Given the description of an element on the screen output the (x, y) to click on. 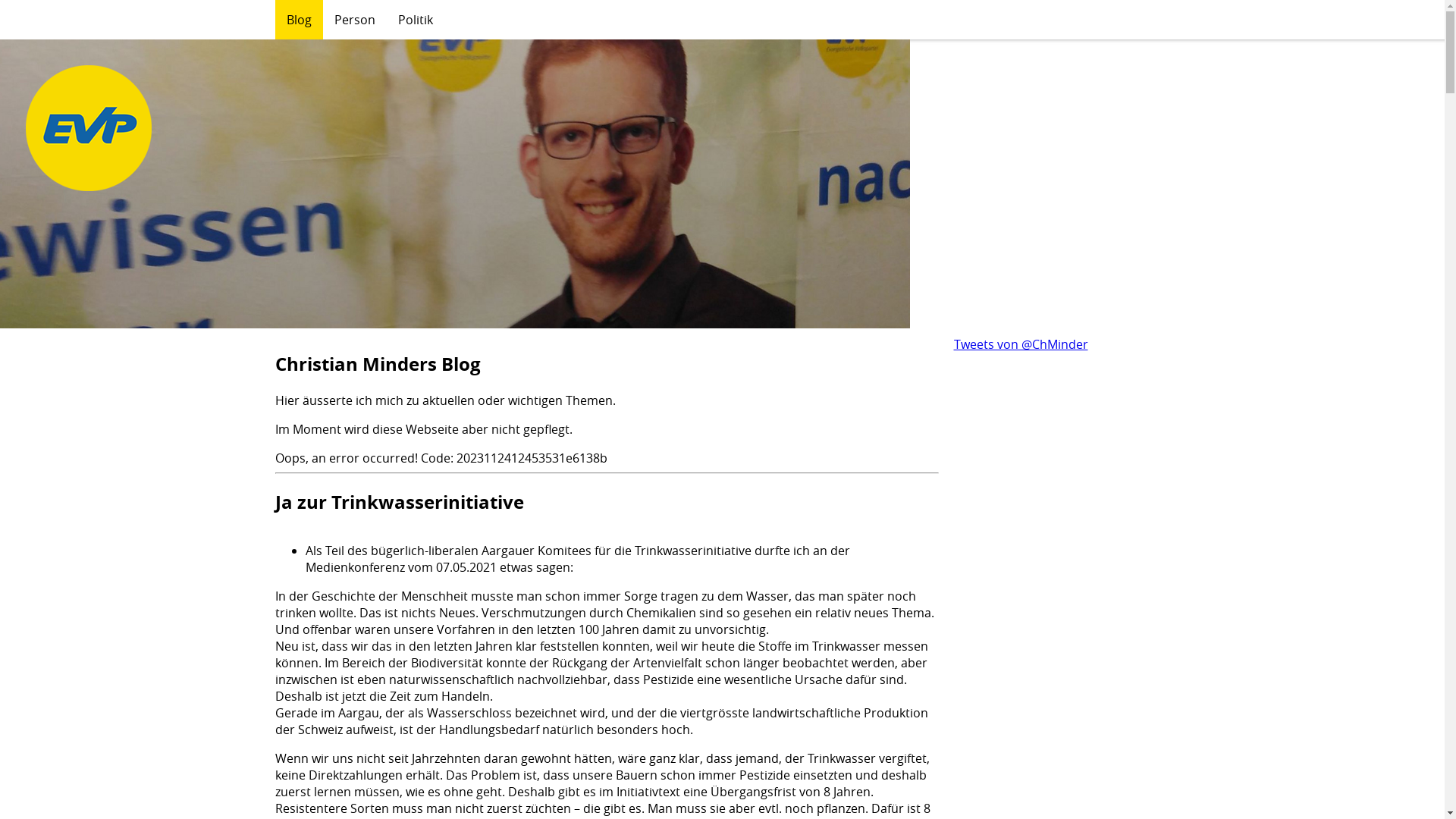
Politik Element type: text (415, 19)
Blog Element type: text (298, 19)
Tweets von @ChMinder Element type: text (1020, 343)
Person Element type: text (354, 19)
